Given the description of an element on the screen output the (x, y) to click on. 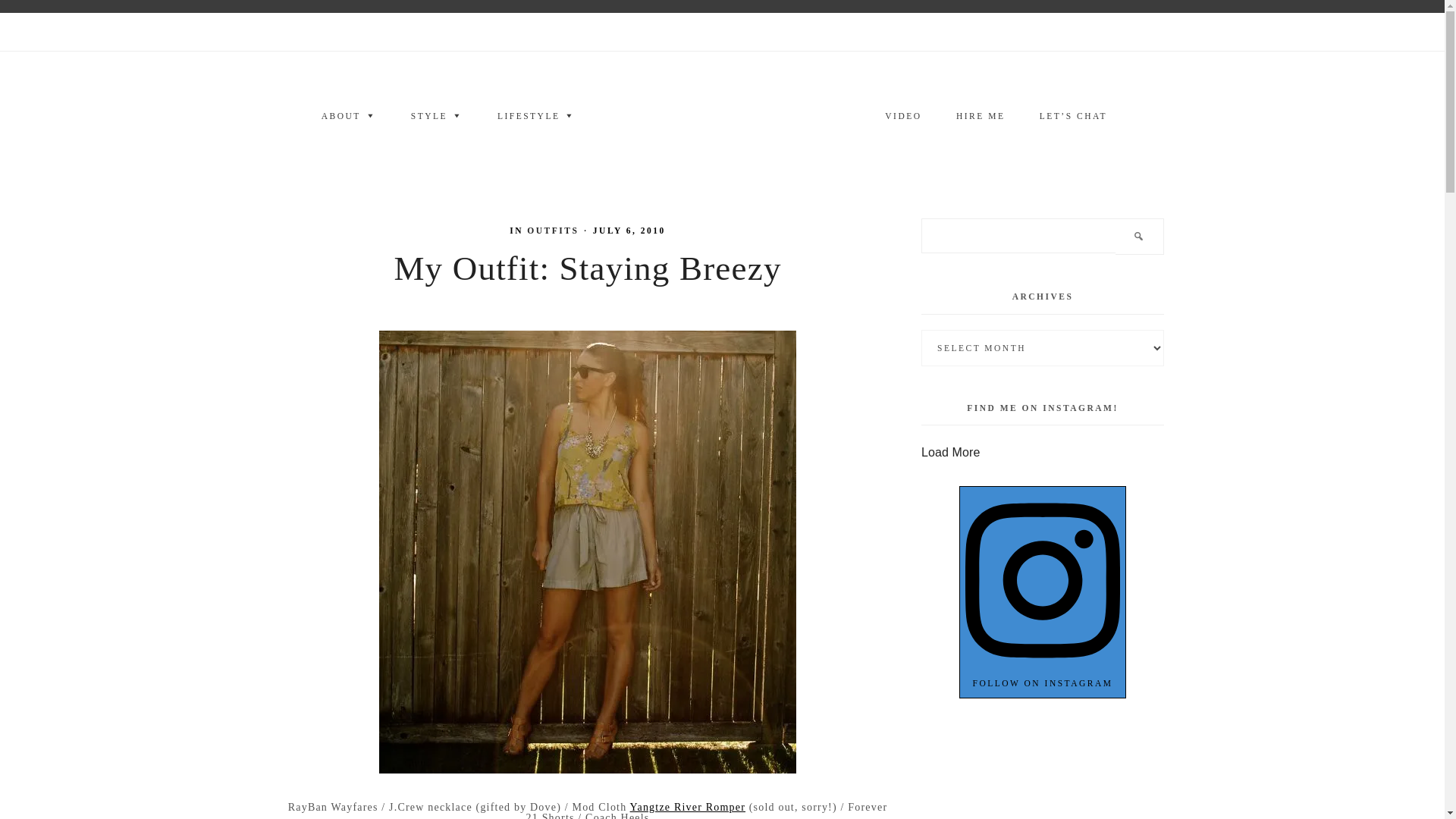
Load More (950, 451)
STYLE (437, 116)
VIDEO (902, 116)
My Style Pill (722, 115)
ABOUT (348, 116)
OUTFITS (552, 230)
Yangtze River Romper (687, 807)
HIRE ME (980, 116)
LIFESTYLE (536, 116)
